Given the description of an element on the screen output the (x, y) to click on. 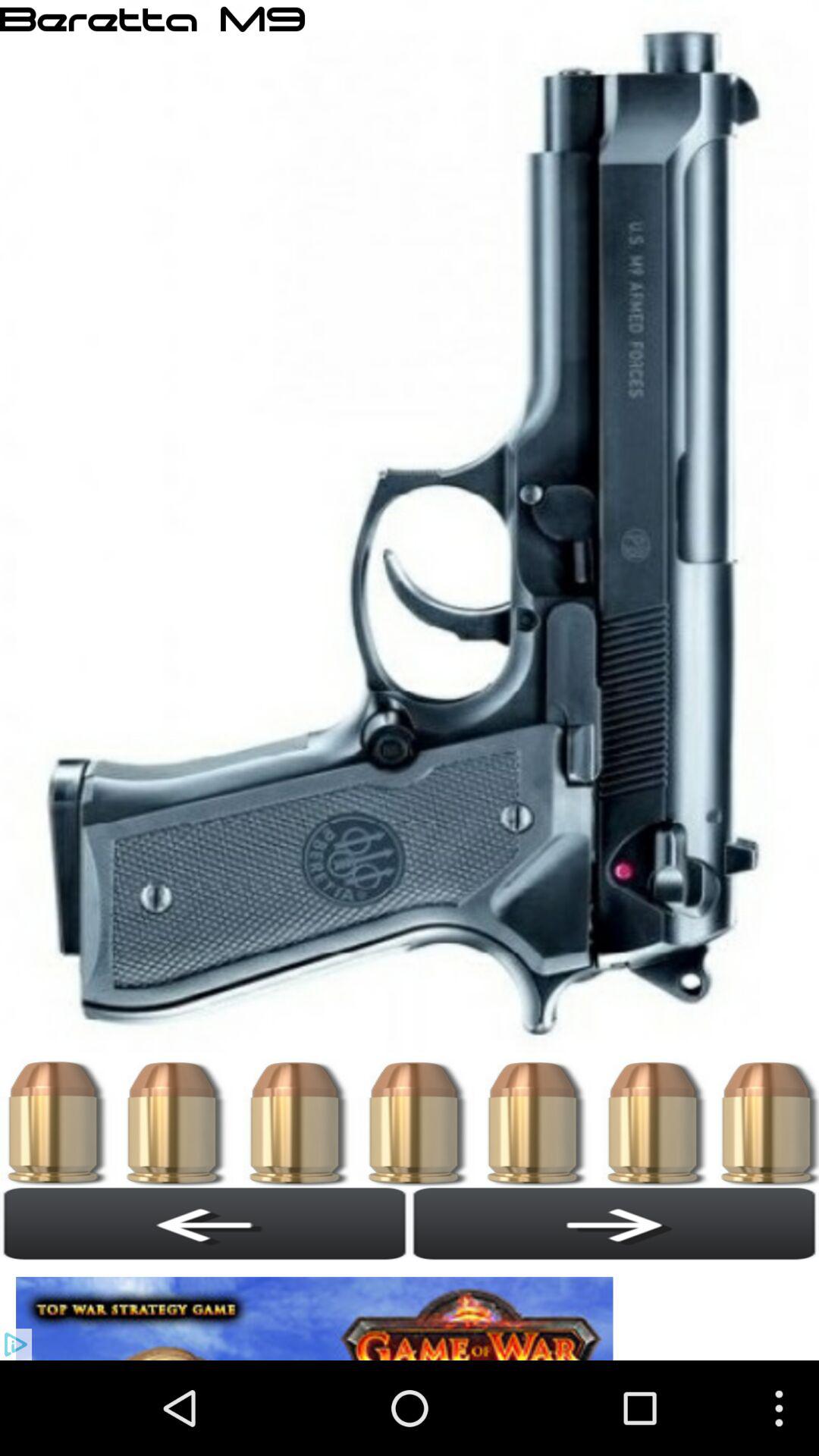
go next (614, 1223)
